Given the description of an element on the screen output the (x, y) to click on. 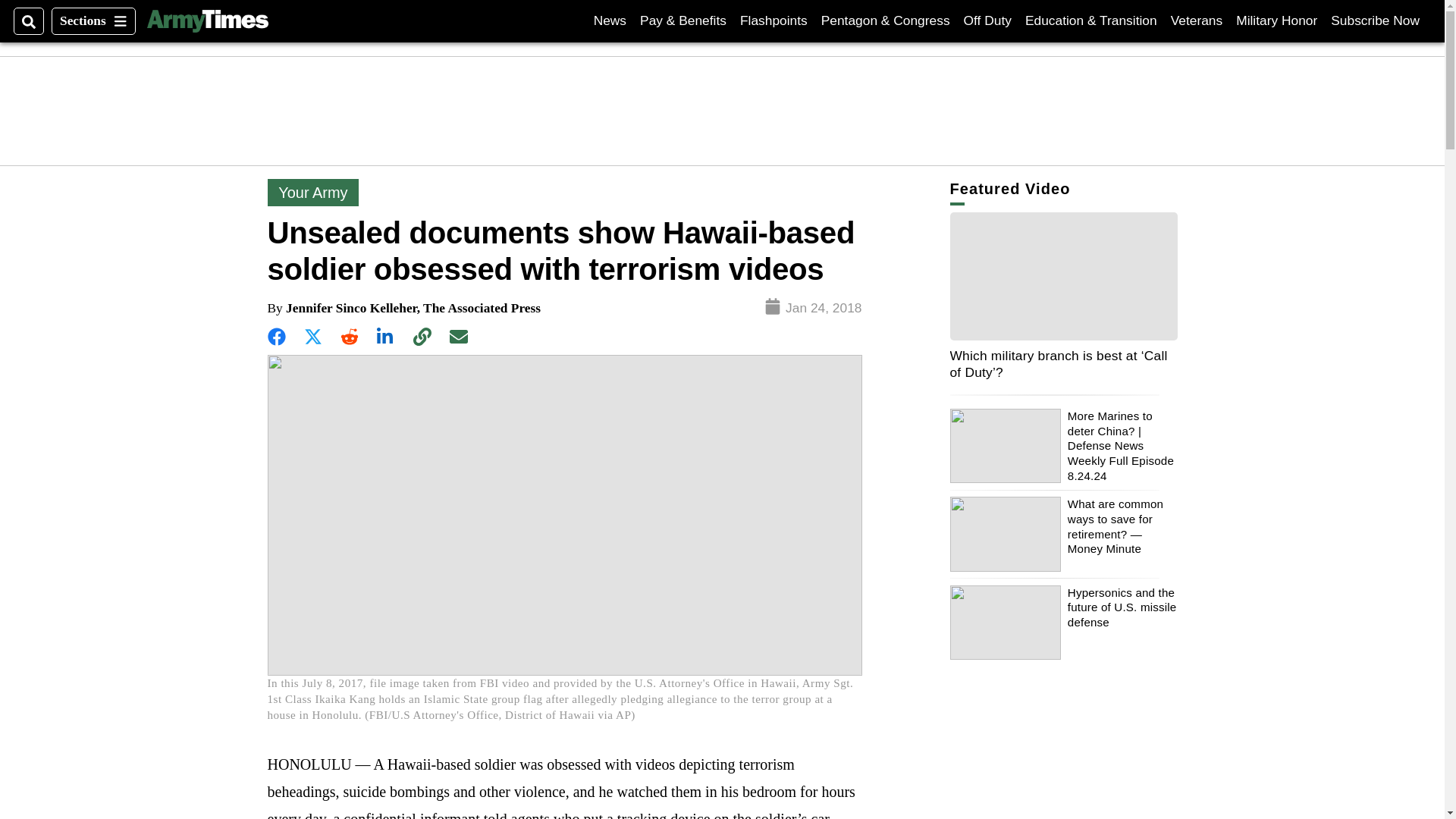
Flashpoints (773, 20)
Military Honor (1276, 20)
Sections (92, 21)
Veterans (1196, 20)
News (610, 20)
Army Times Logo (1374, 20)
Off Duty (207, 20)
